Given the description of an element on the screen output the (x, y) to click on. 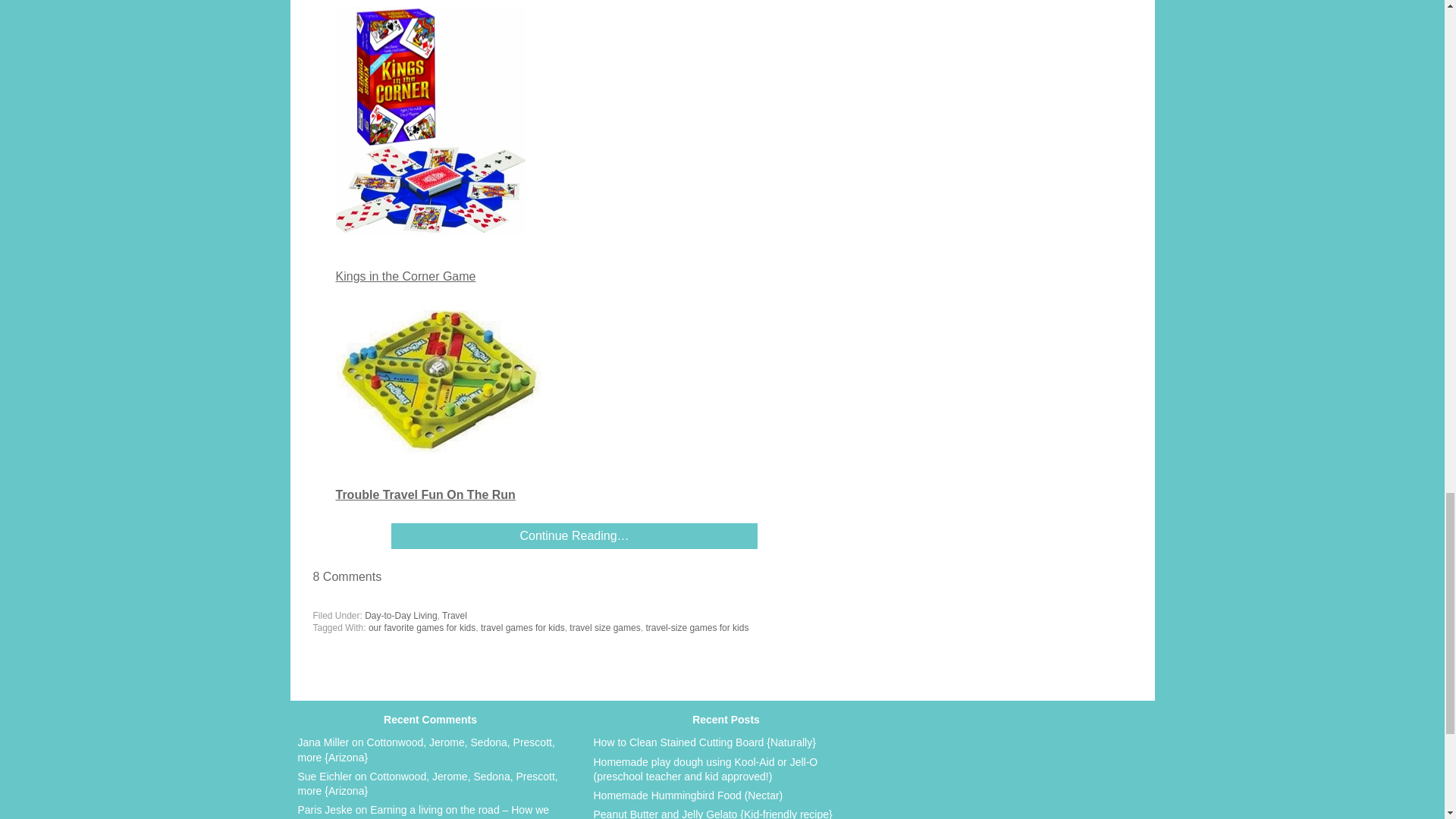
Travel (454, 615)
8 Comments (347, 576)
Day-to-Day Living (400, 615)
Trouble Travel Fun On The Run (424, 494)
Kings in the Corner Game (405, 276)
travel games for kids (522, 627)
our favorite games for kids (422, 627)
